Given the description of an element on the screen output the (x, y) to click on. 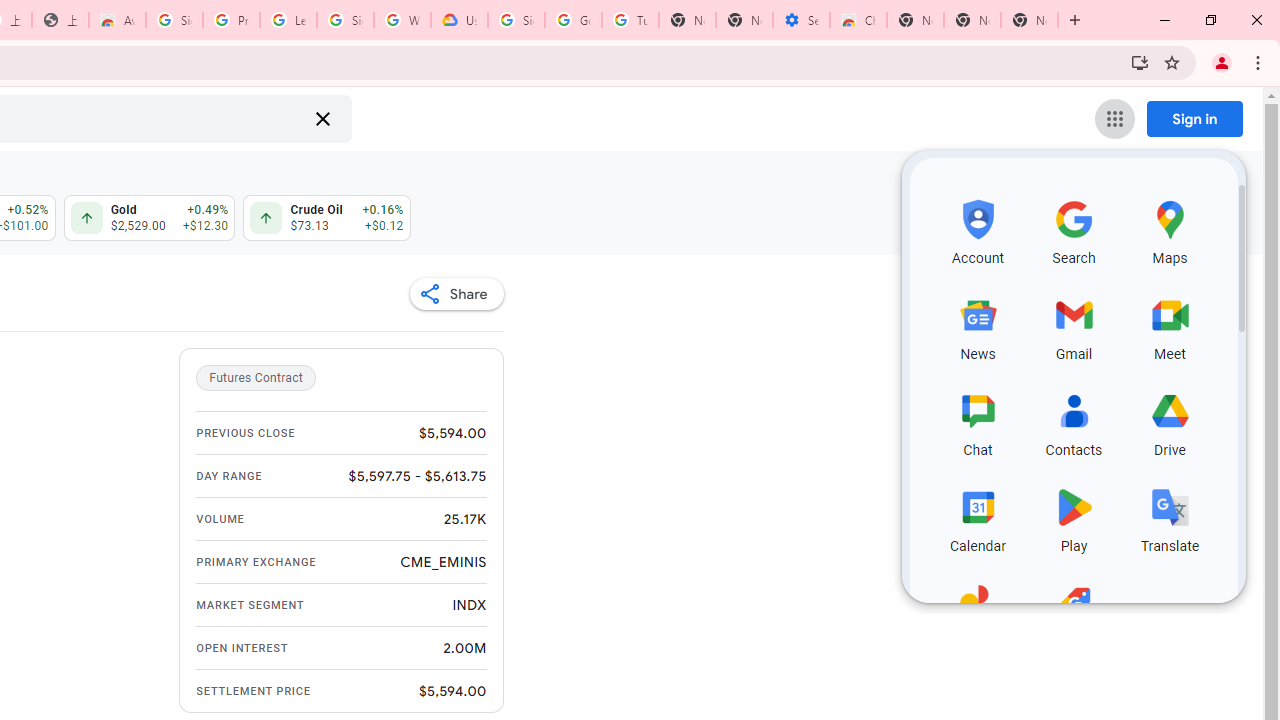
Share (456, 293)
Sign in - Google Accounts (174, 20)
Gold $2,529.00 Up by 0.49% +$12.30 (148, 218)
